Given the description of an element on the screen output the (x, y) to click on. 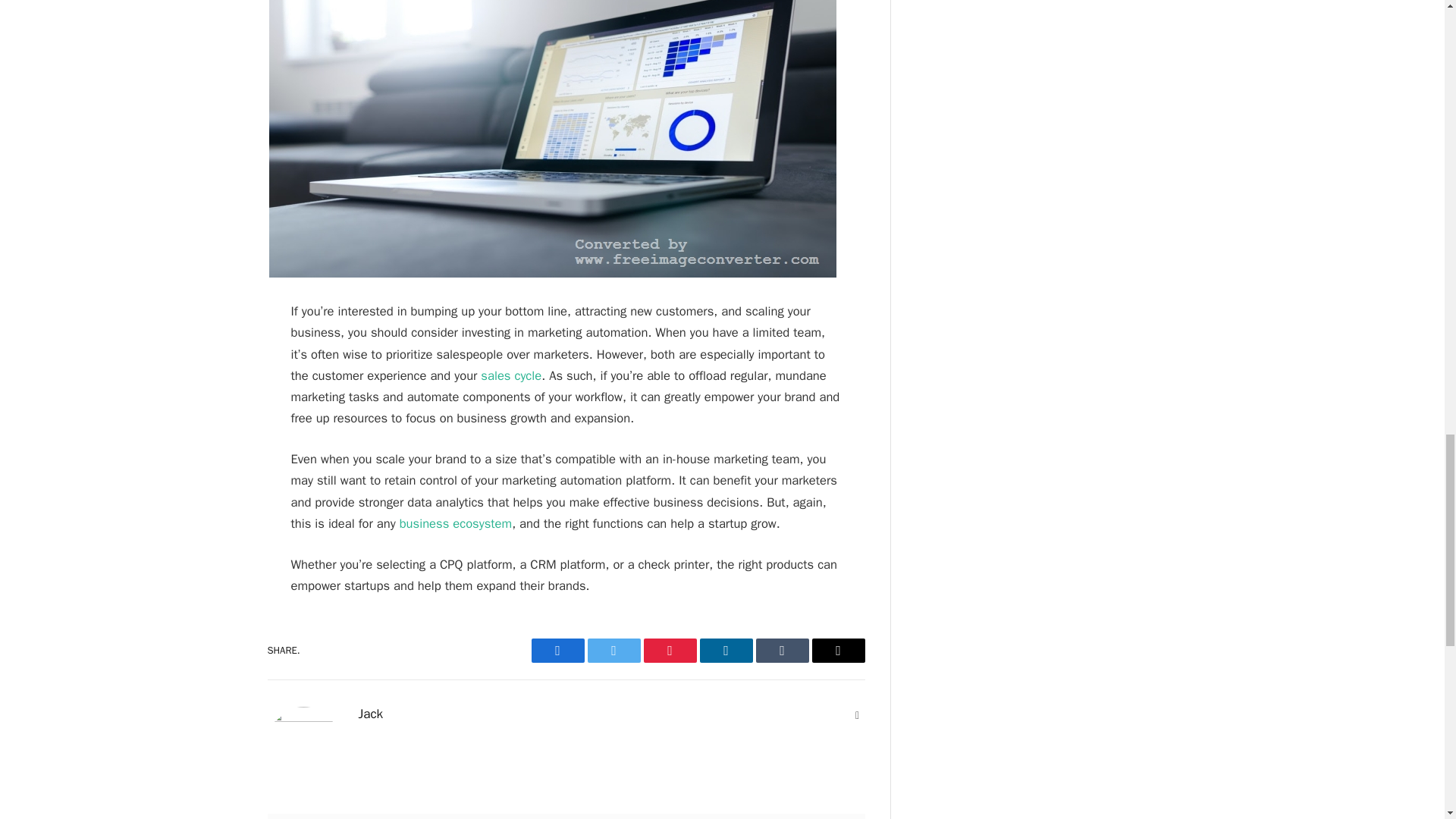
Facebook (557, 650)
business ecosystem (455, 523)
sales cycle (510, 375)
